Given the description of an element on the screen output the (x, y) to click on. 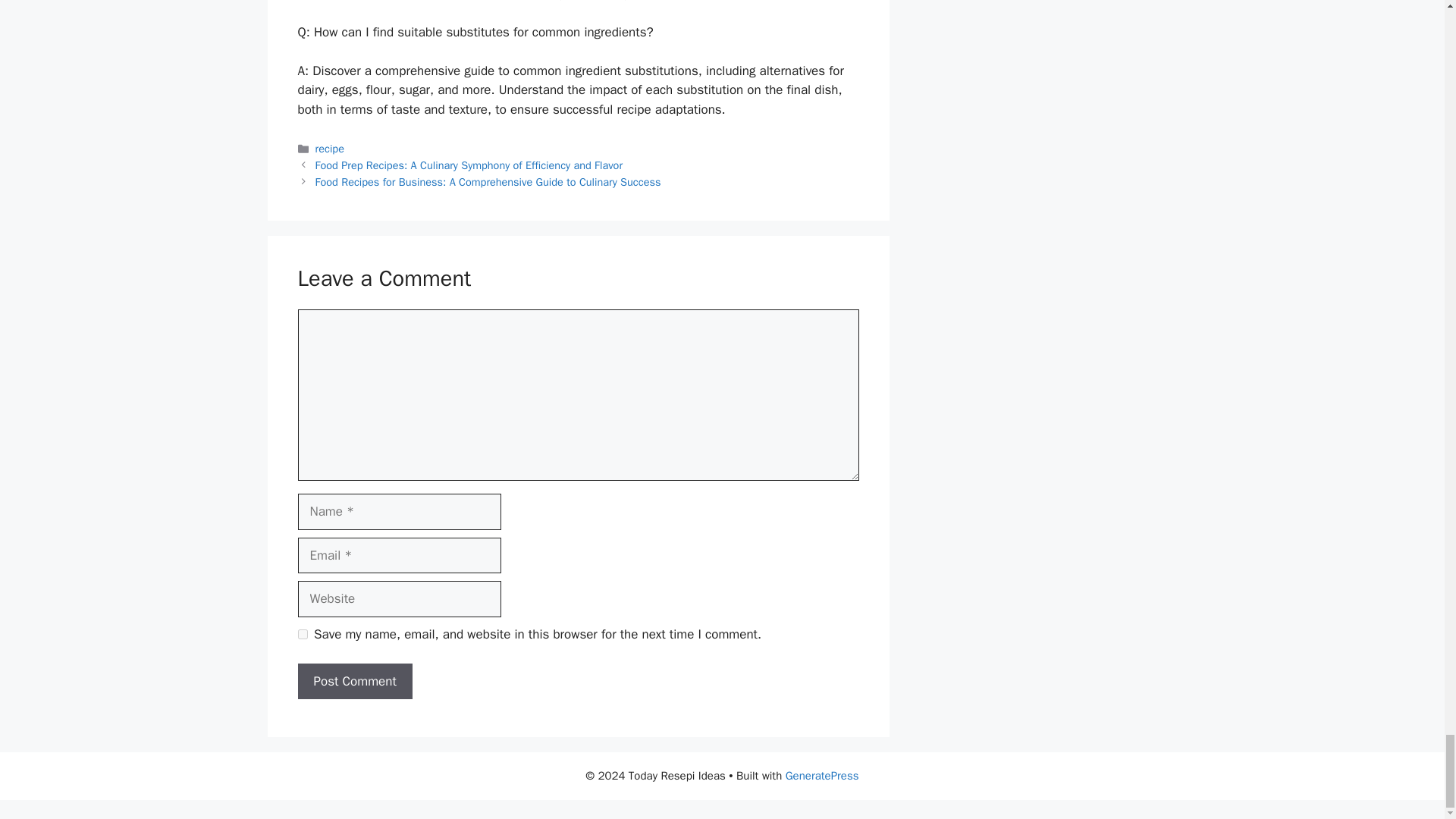
yes (302, 634)
GeneratePress (822, 775)
Post Comment (354, 681)
recipe (329, 148)
Post Comment (354, 681)
